Given the description of an element on the screen output the (x, y) to click on. 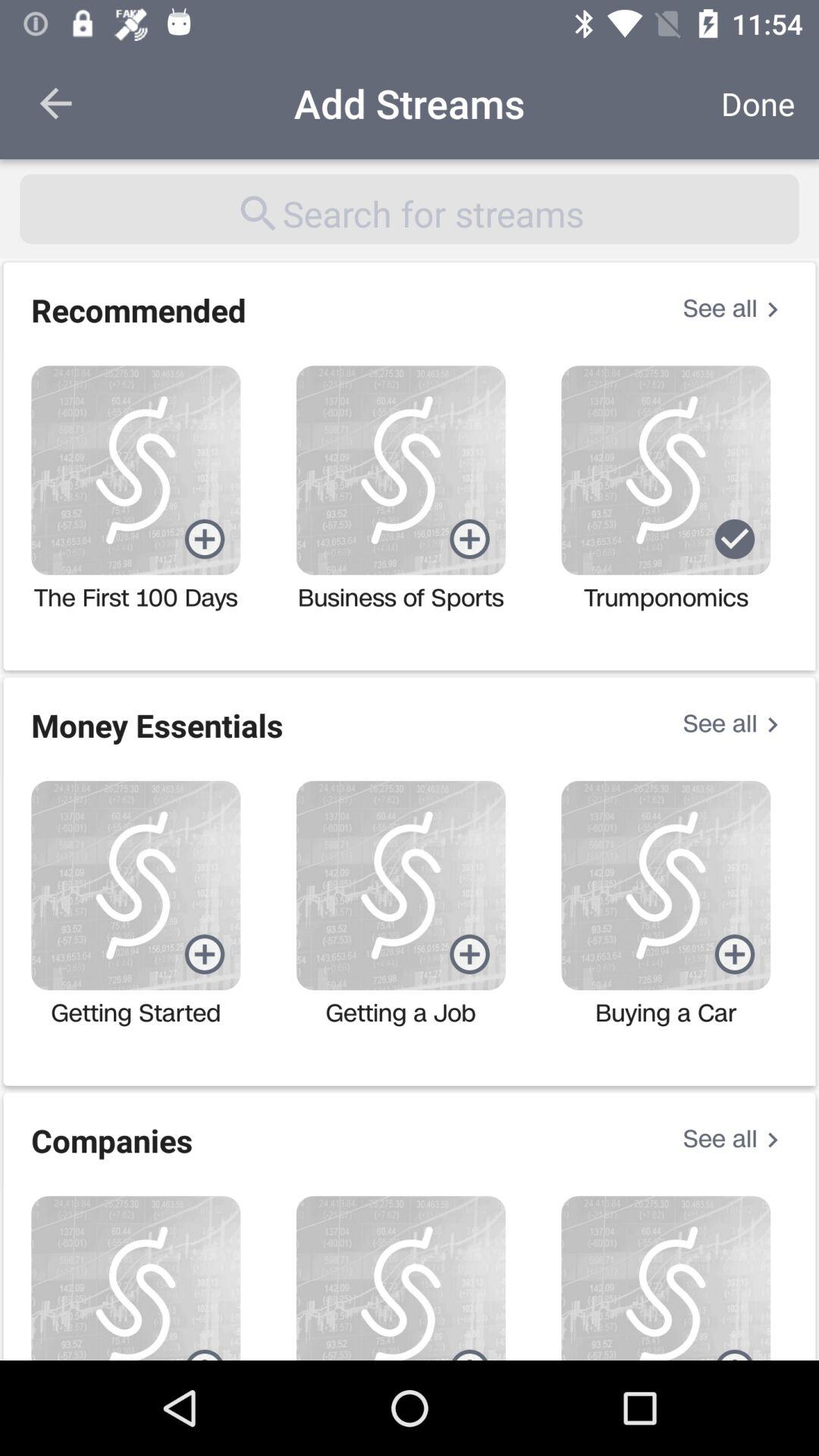
open the item to the left of the add streams (55, 103)
